Given the description of an element on the screen output the (x, y) to click on. 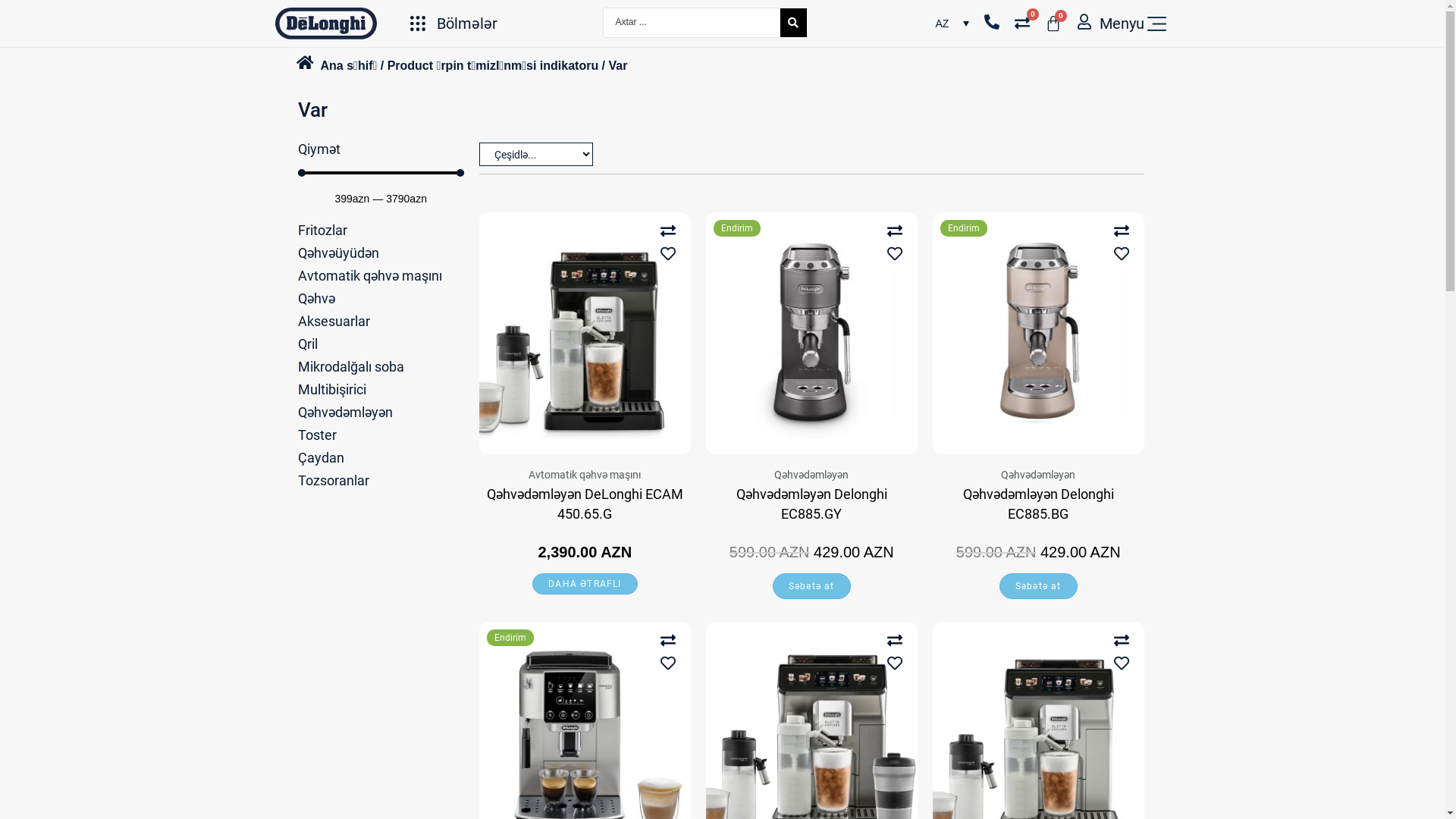
Fritozlar Element type: text (321, 230)
AZ Element type: text (951, 22)
Qril Element type: text (306, 344)
0 Element type: text (1025, 22)
Toster Element type: text (316, 435)
Tozsoranlar Element type: text (332, 480)
Aksesuarlar Element type: text (333, 321)
